Given the description of an element on the screen output the (x, y) to click on. 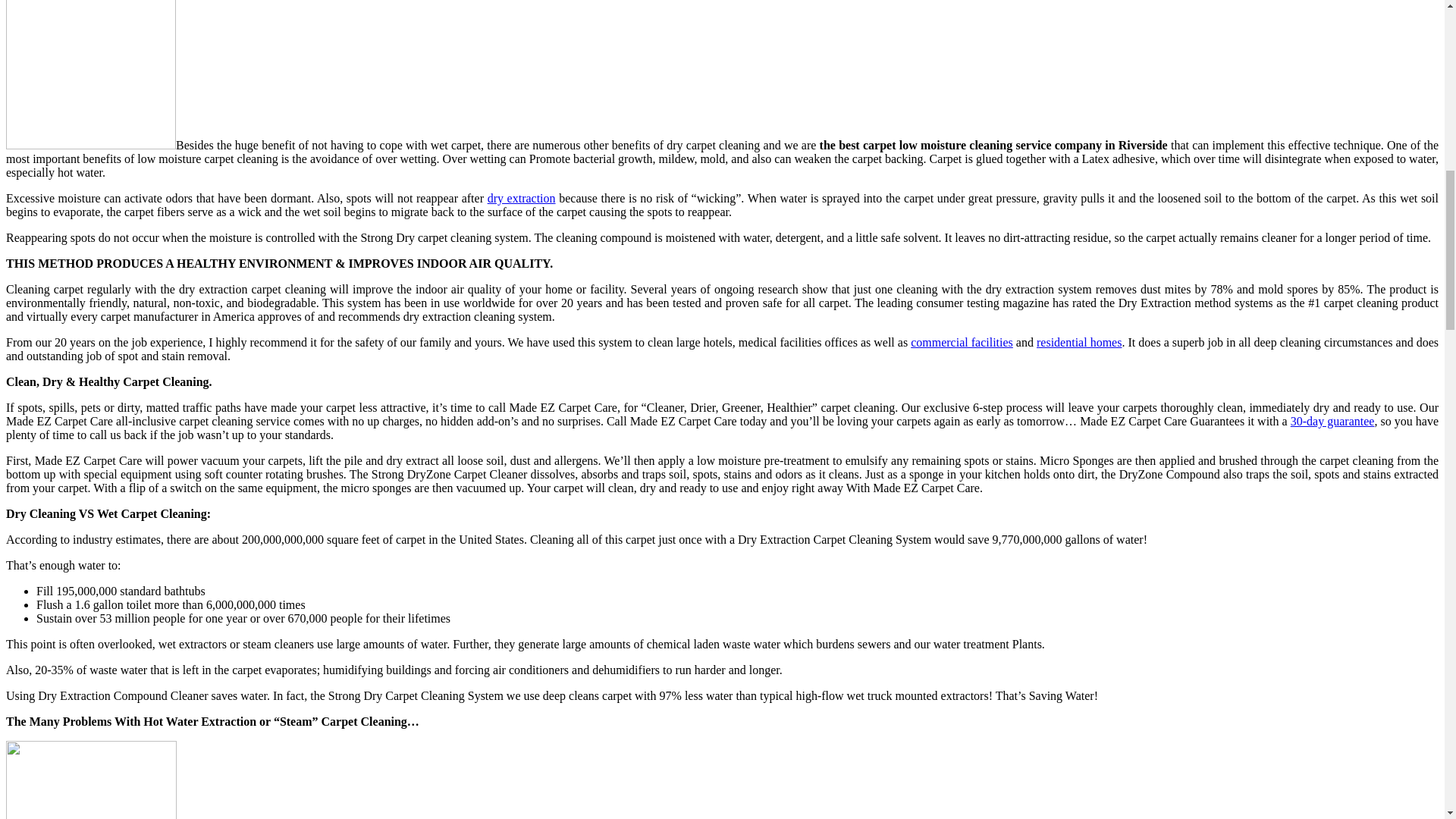
30-day guarantee (1332, 420)
residential homes (1078, 341)
commercial facilities (962, 341)
dry extraction (521, 197)
